Given the description of an element on the screen output the (x, y) to click on. 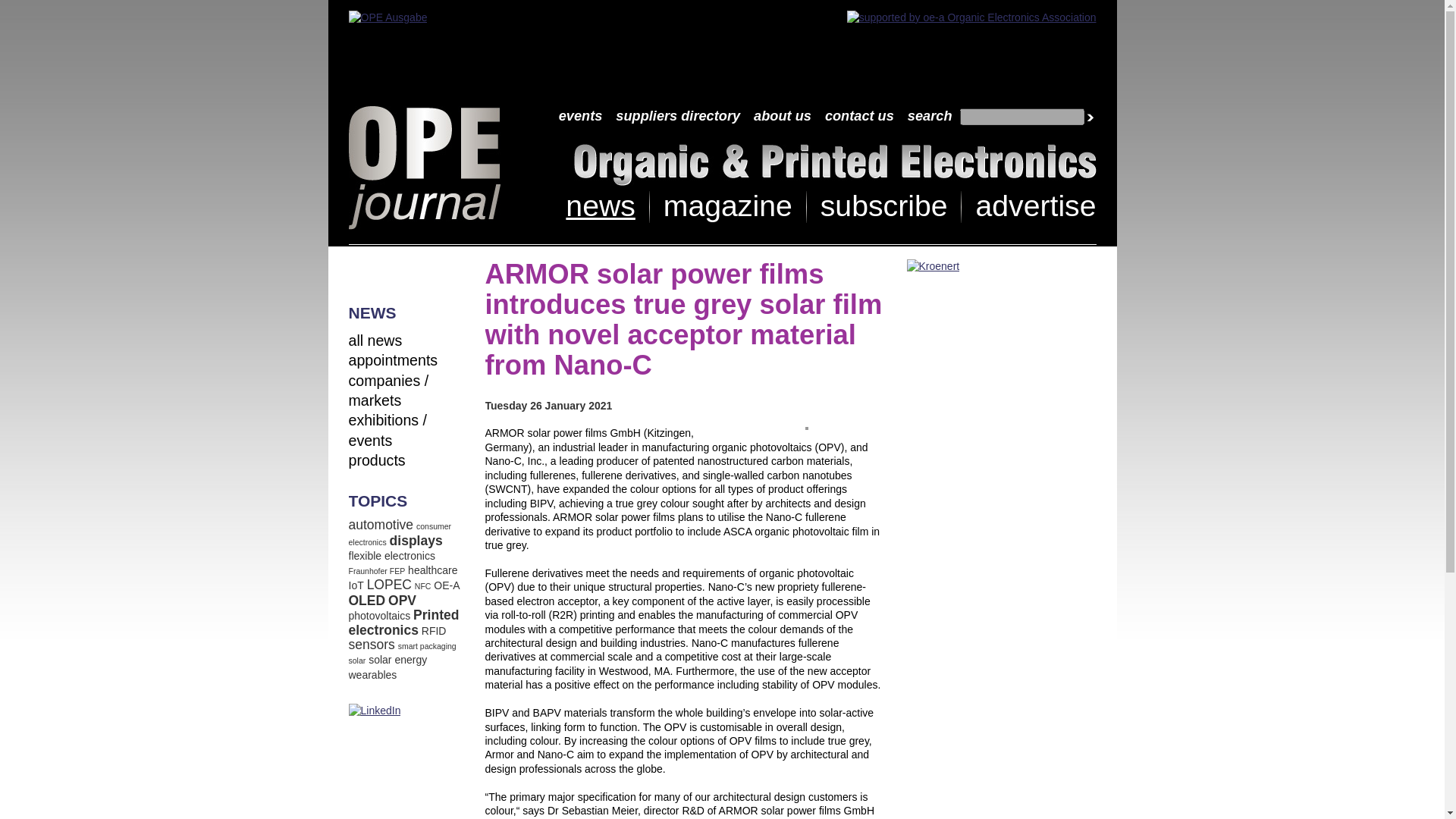
Appointments - News (393, 360)
About us (782, 116)
NFC (422, 585)
News (376, 340)
about us (782, 116)
Contact (859, 116)
automotive (381, 524)
advertise (1035, 205)
IoT (356, 585)
Suppliers directory (677, 116)
photovoltaics (379, 615)
Facebook (360, 271)
OPV (402, 600)
events (580, 116)
